Given the description of an element on the screen output the (x, y) to click on. 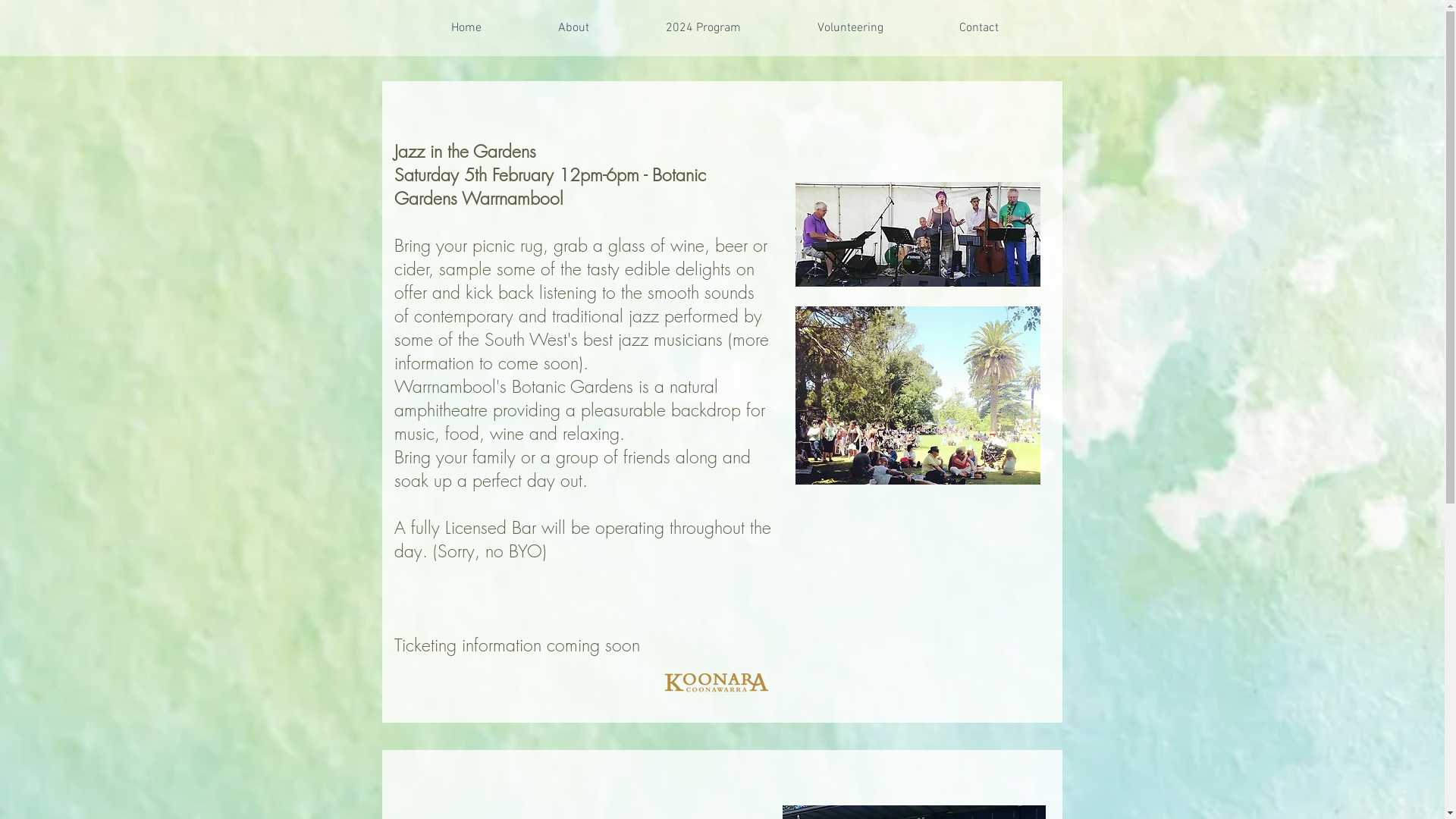
Contact Element type: text (977, 28)
Volunteering Element type: text (850, 28)
Home Element type: text (465, 28)
About Element type: text (573, 28)
2024 Program Element type: text (703, 28)
